Given the description of an element on the screen output the (x, y) to click on. 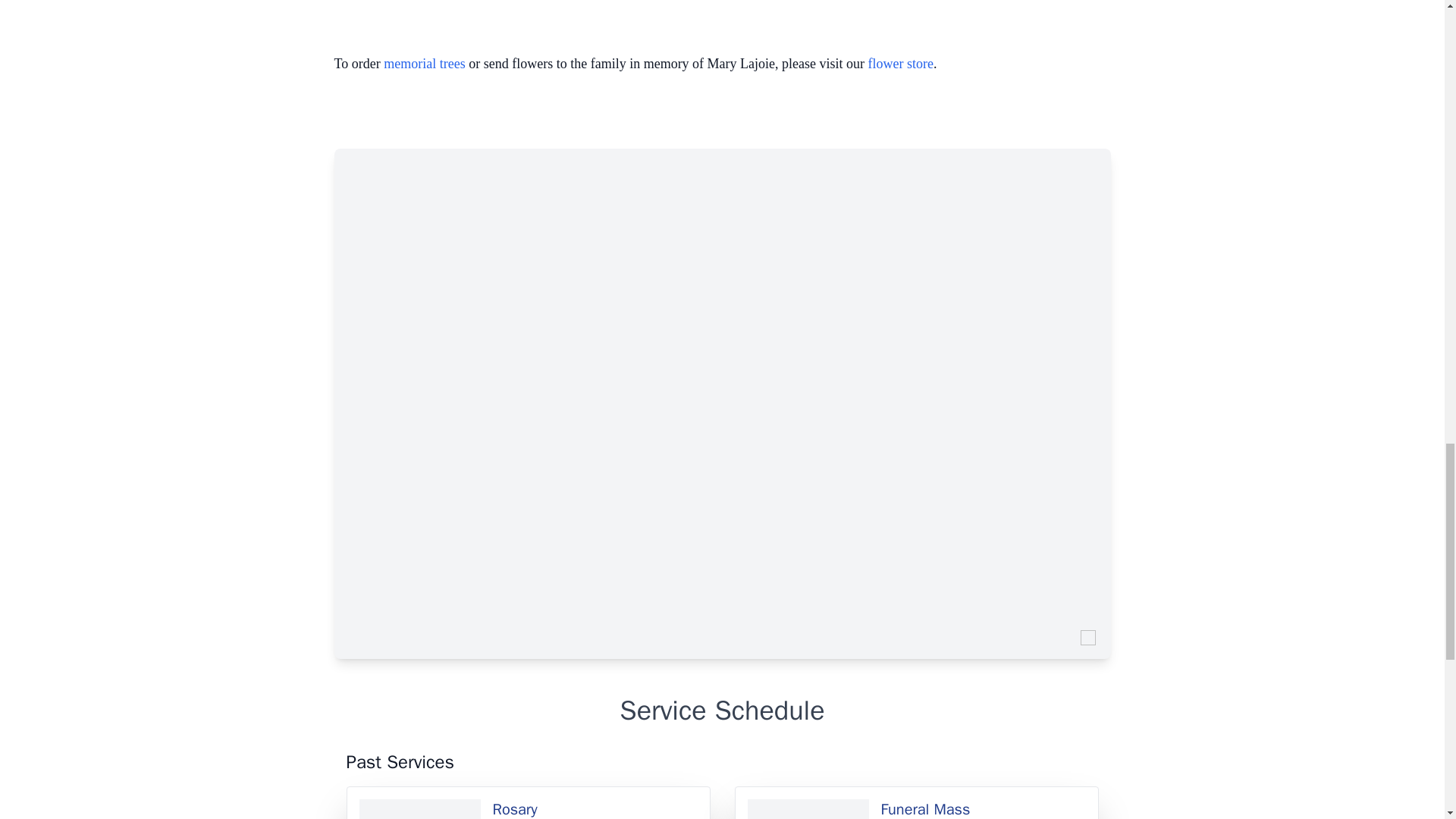
memorial trees (424, 63)
flower store (900, 63)
